Given the description of an element on the screen output the (x, y) to click on. 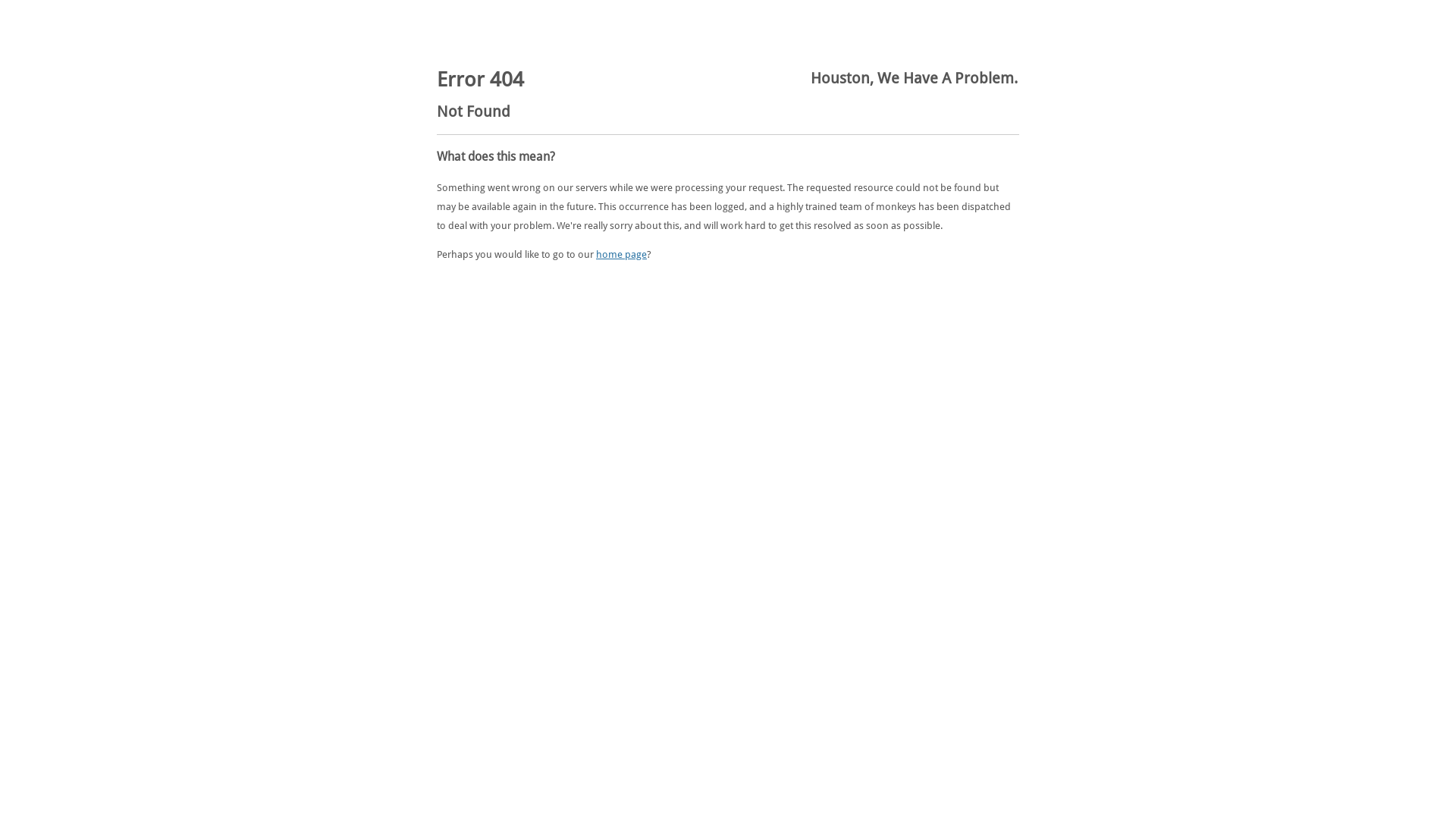
home page Element type: text (621, 254)
